Given the description of an element on the screen output the (x, y) to click on. 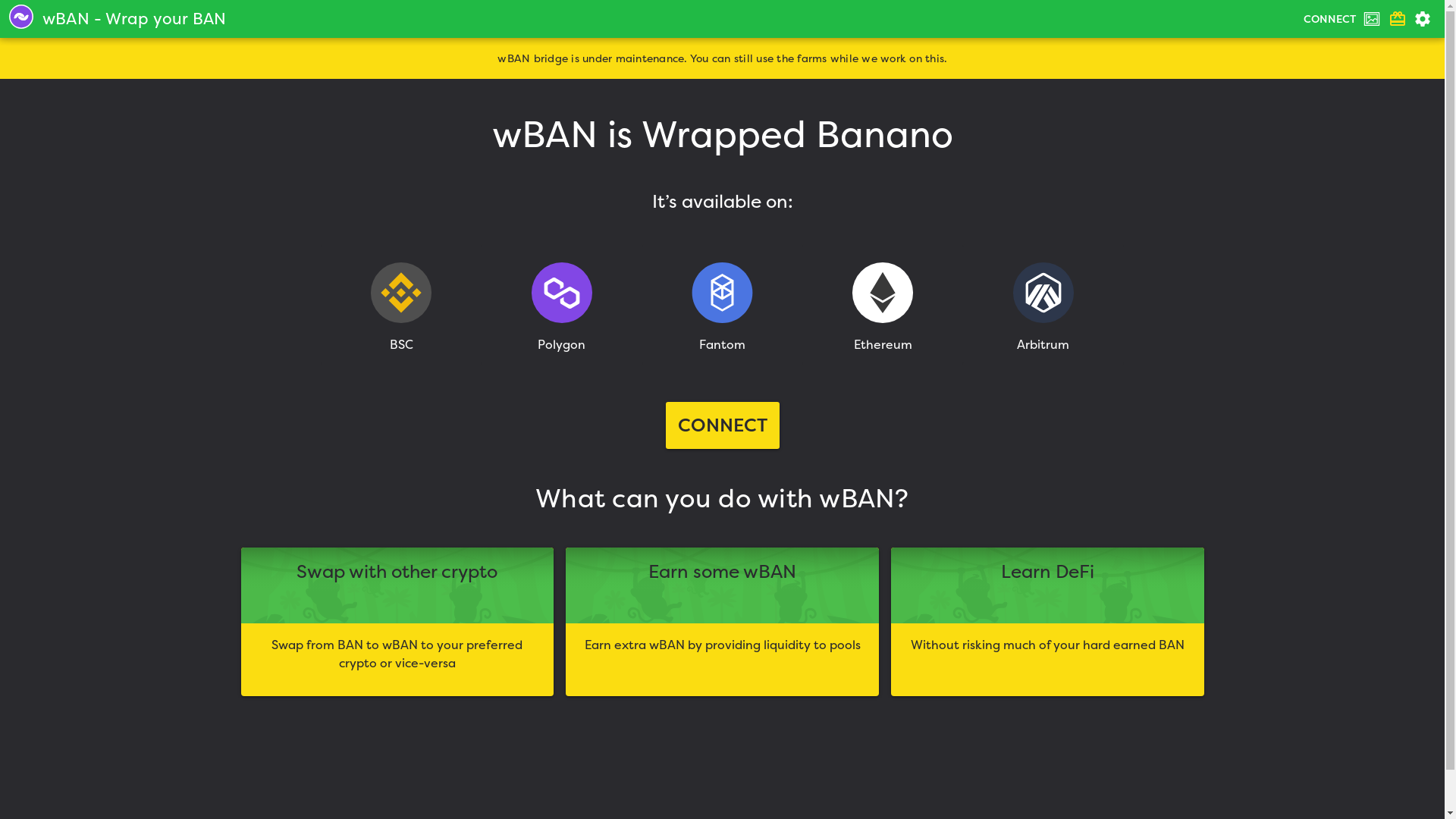
CONNECT Element type: text (1329, 18)
settings Element type: text (1422, 18)
CONNECT Element type: text (722, 424)
redeem Element type: text (1397, 18)
